Given the description of an element on the screen output the (x, y) to click on. 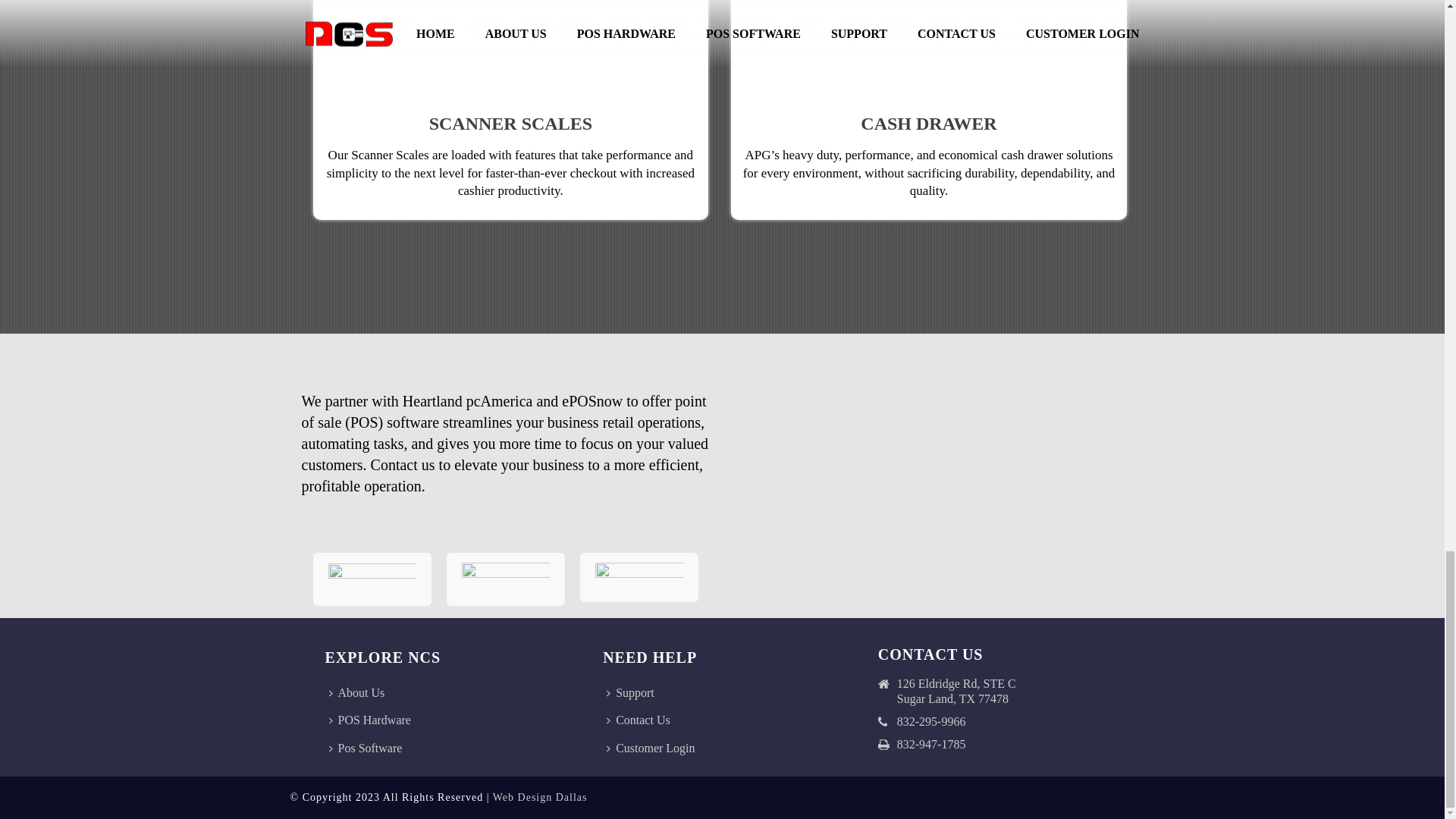
About Us (360, 693)
Web Design Dallas (540, 797)
Pos Software (368, 748)
Support (633, 693)
POS Hardware (373, 720)
Customer Login (654, 748)
Contact Us (641, 720)
